Given the description of an element on the screen output the (x, y) to click on. 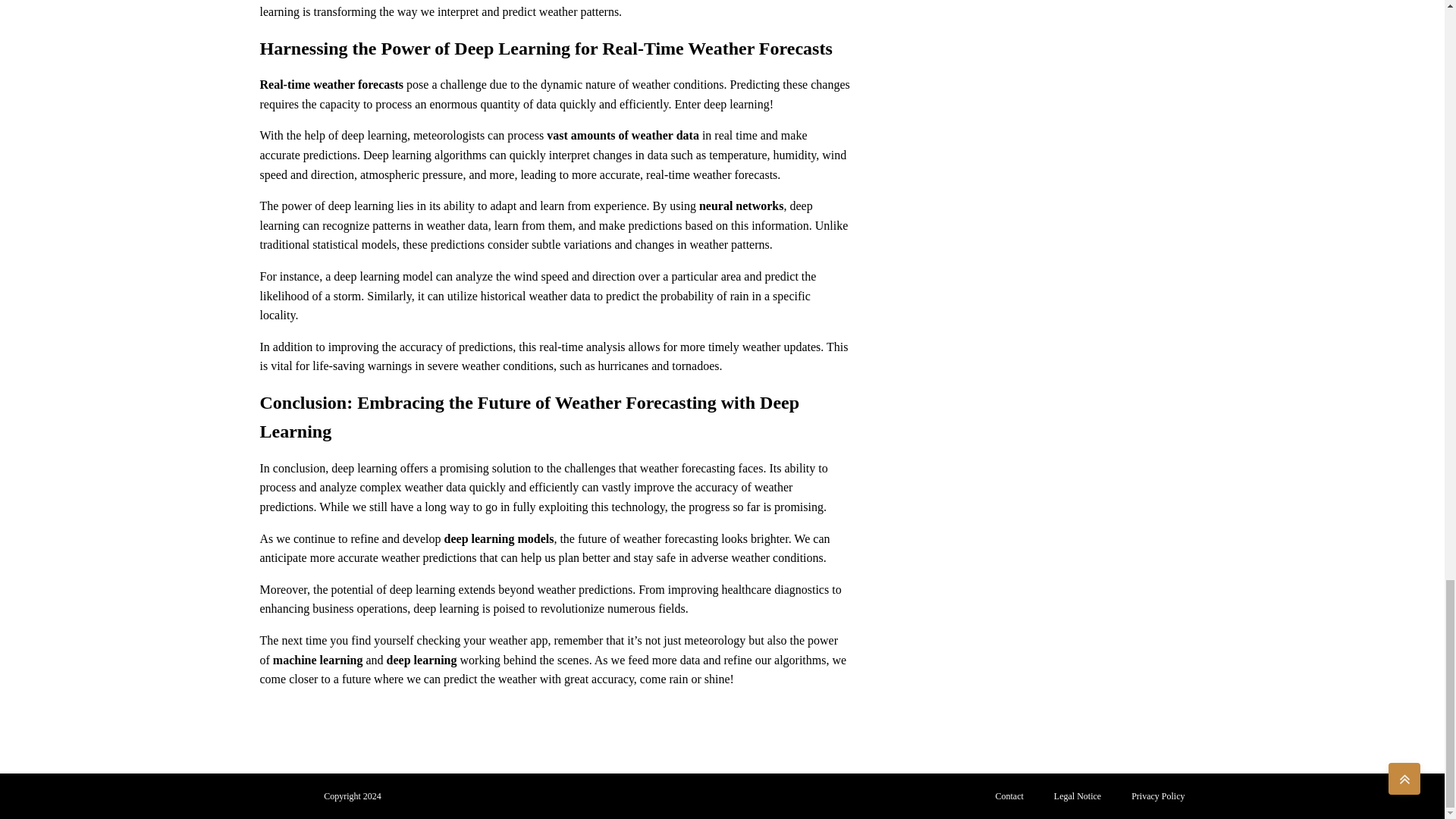
Privacy Policy (1157, 796)
Legal Notice (1077, 796)
Contact (1009, 796)
